Given the description of an element on the screen output the (x, y) to click on. 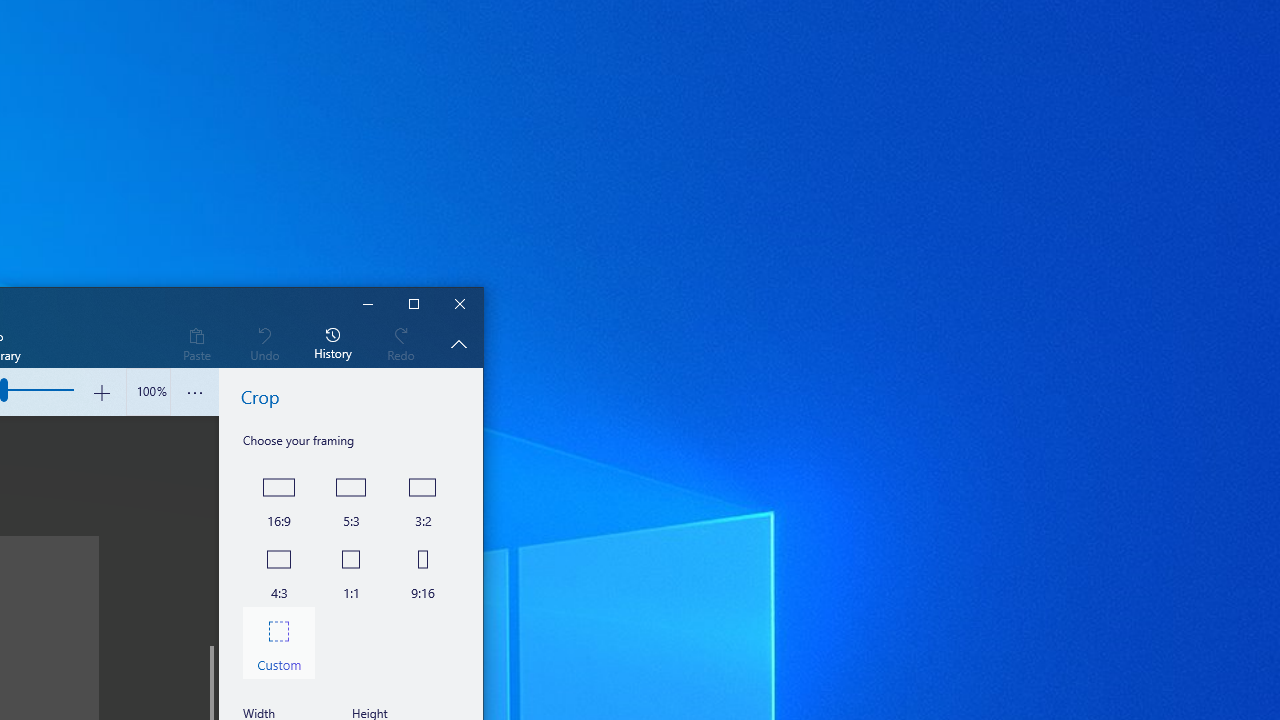
16 by 9 (278, 498)
Zoom in (101, 391)
